Given the description of an element on the screen output the (x, y) to click on. 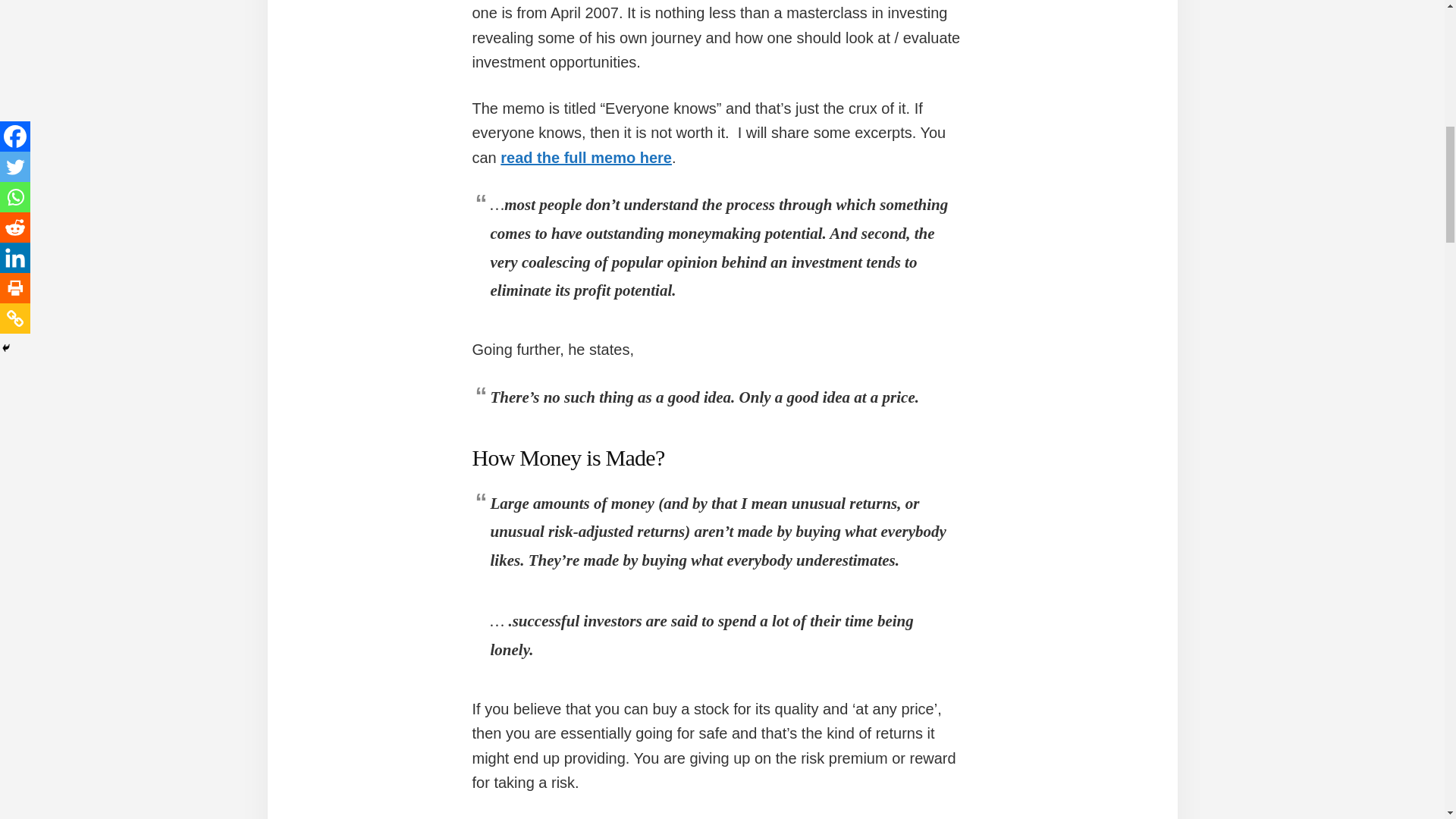
read the full memo here (585, 157)
